Given the description of an element on the screen output the (x, y) to click on. 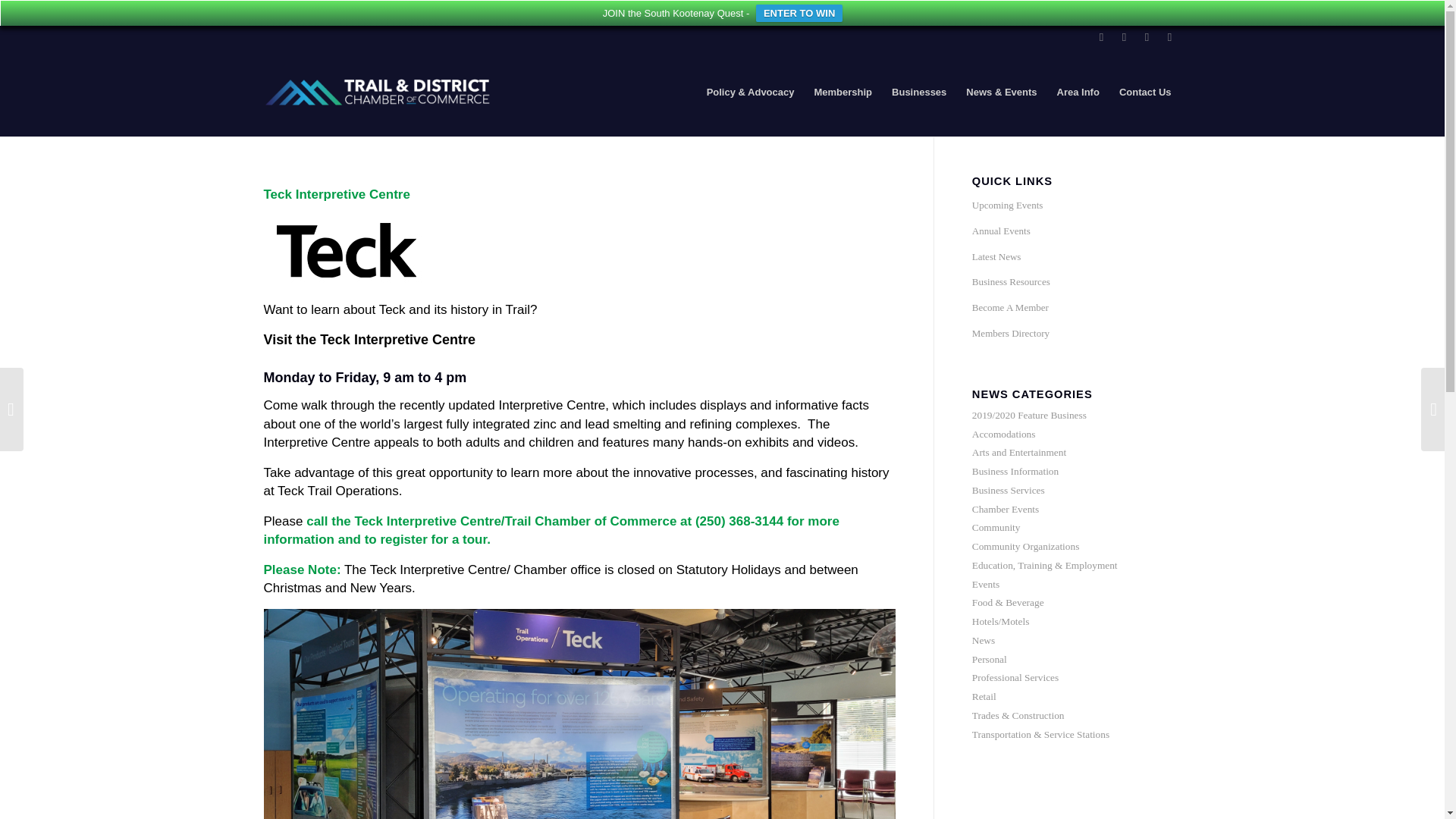
Upcoming Events (1076, 206)
LinkedIn (1101, 36)
Facebook (1124, 36)
Annual Events (1076, 231)
Twitter (1146, 36)
